Given the description of an element on the screen output the (x, y) to click on. 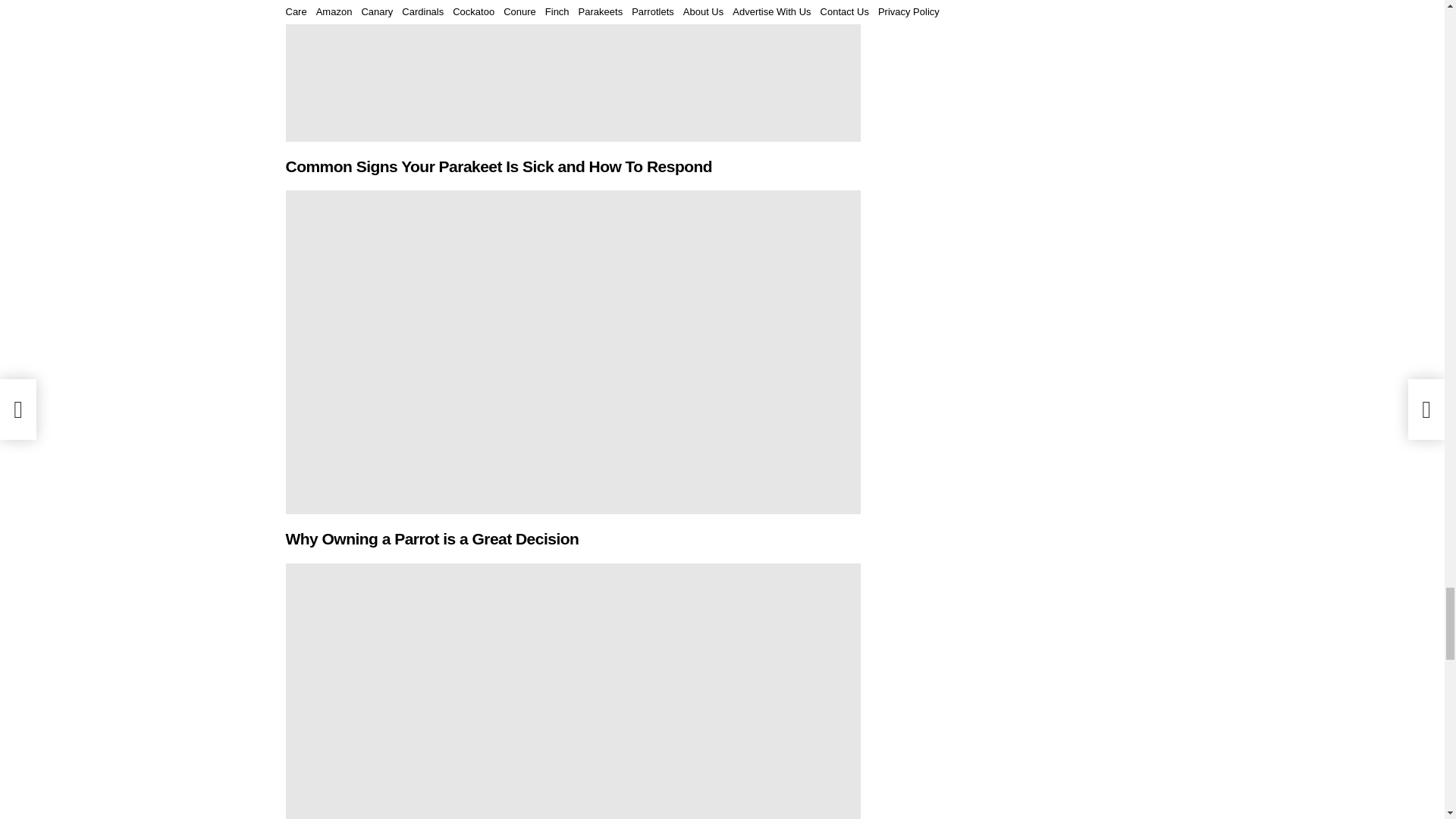
Common Signs Your Parakeet Is Sick and How To Respond (572, 70)
